Given the description of an element on the screen output the (x, y) to click on. 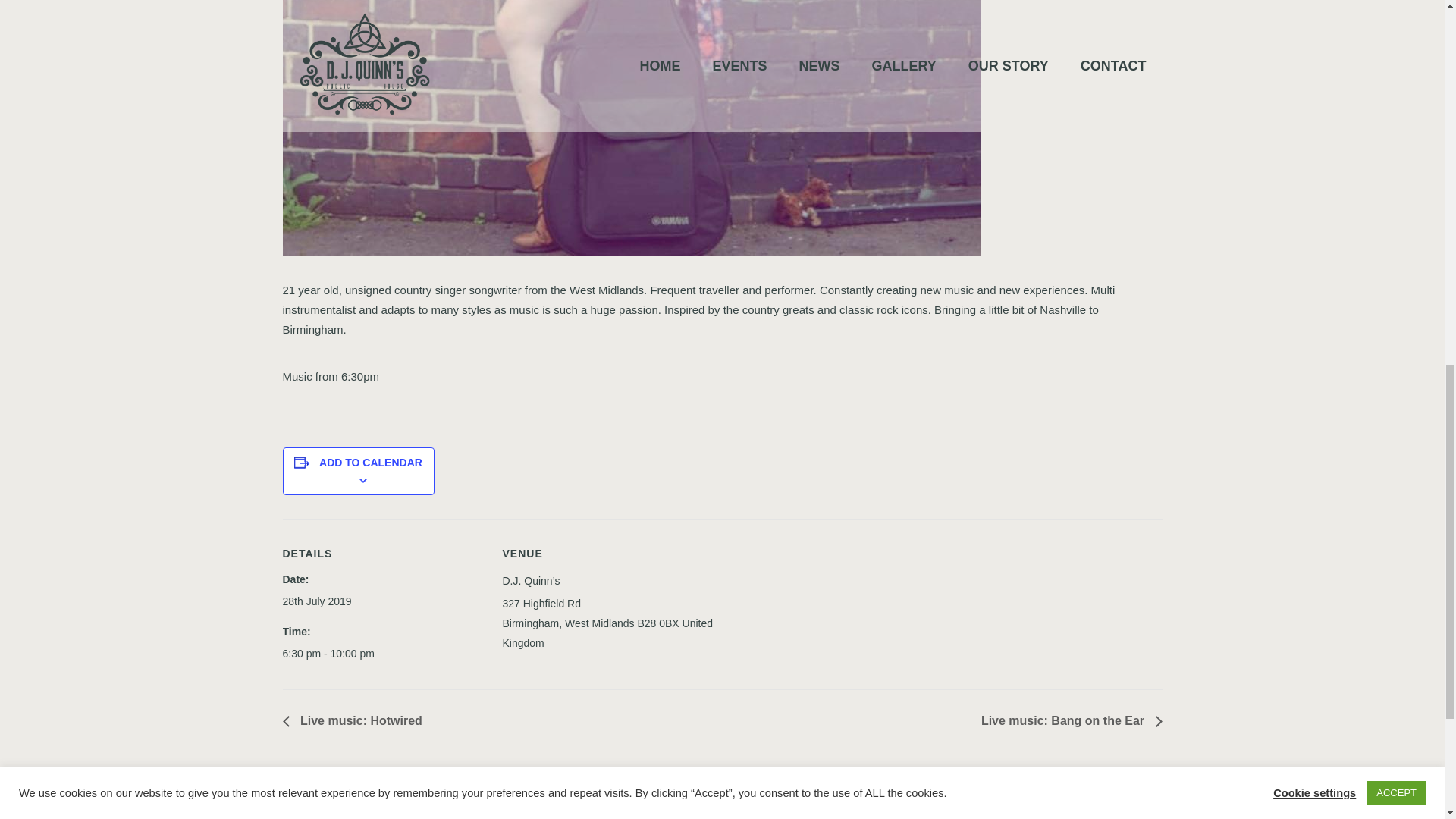
Live music: Hotwired (355, 720)
2019-07-28 (392, 653)
2019-07-28 (316, 600)
ADD TO CALENDAR (370, 462)
West Midlands (599, 623)
Live music: Bang on the Ear (1066, 720)
